Given the description of an element on the screen output the (x, y) to click on. 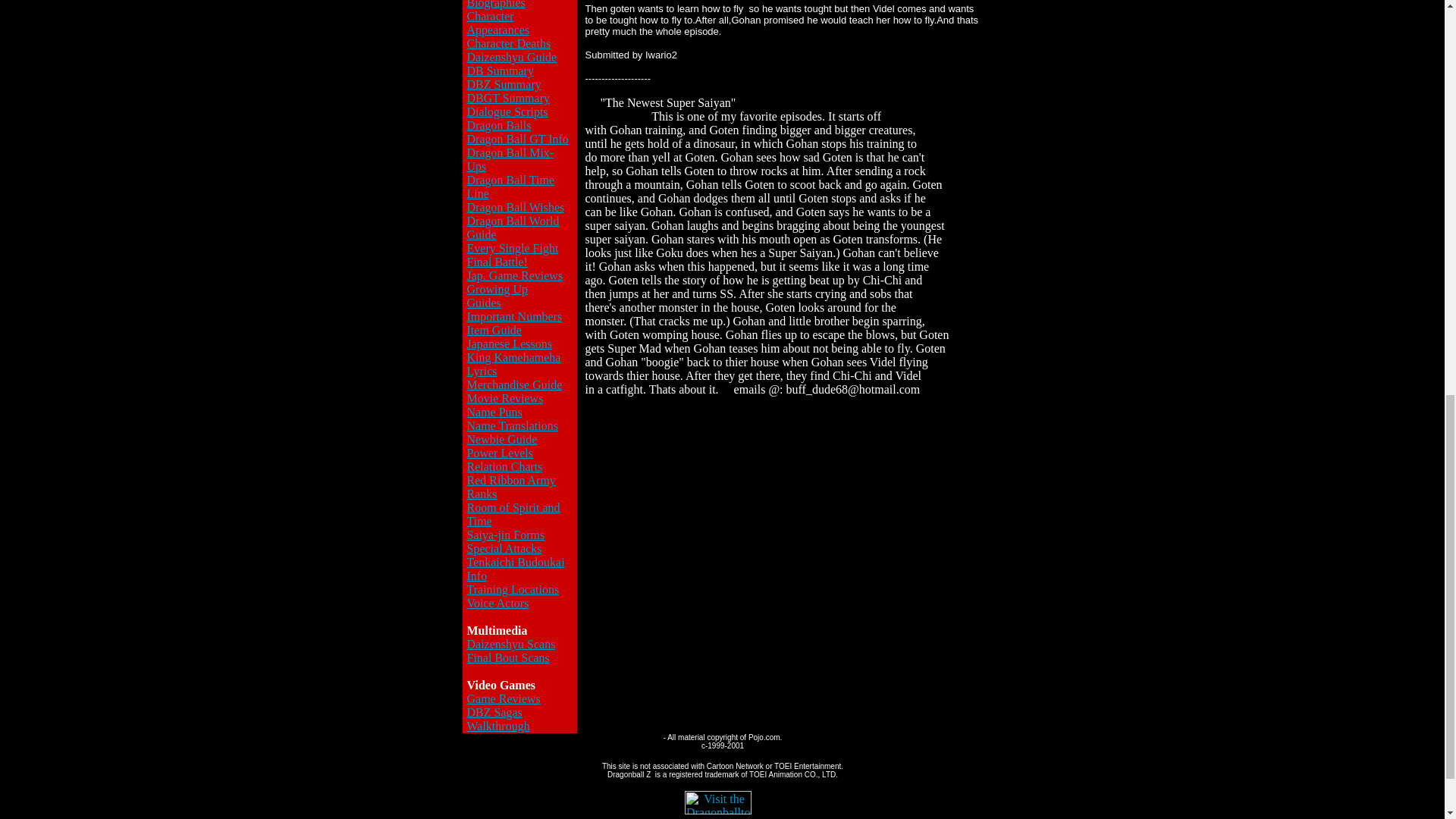
DBGT Summary (508, 97)
Character Deaths (509, 42)
Dragon Ball GT Info (518, 138)
Daizenshyu Guide (512, 56)
DB Summary (500, 70)
Biographies (496, 4)
Dialogue Scripts (507, 111)
Dragon Balls (499, 124)
DBZ Summary (504, 83)
Character Appearances (498, 22)
